Given the description of an element on the screen output the (x, y) to click on. 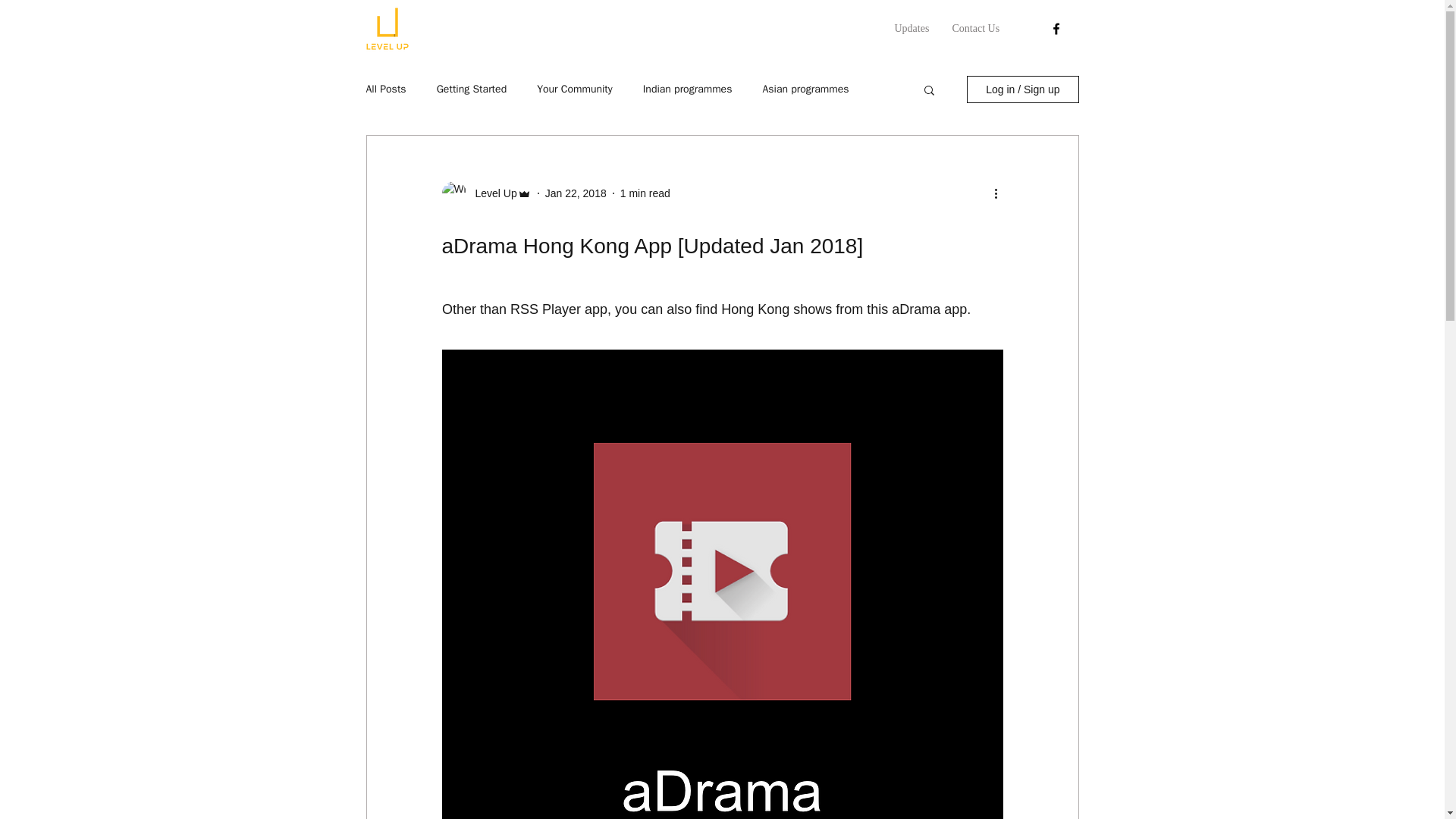
All Posts (385, 89)
Updates (911, 28)
Asian programmes (804, 89)
1 min read (644, 192)
Contact Us (975, 28)
Getting Started (471, 89)
Level Up (490, 192)
Jan 22, 2018 (575, 192)
Your Community (574, 89)
Indian programmes (687, 89)
